Given the description of an element on the screen output the (x, y) to click on. 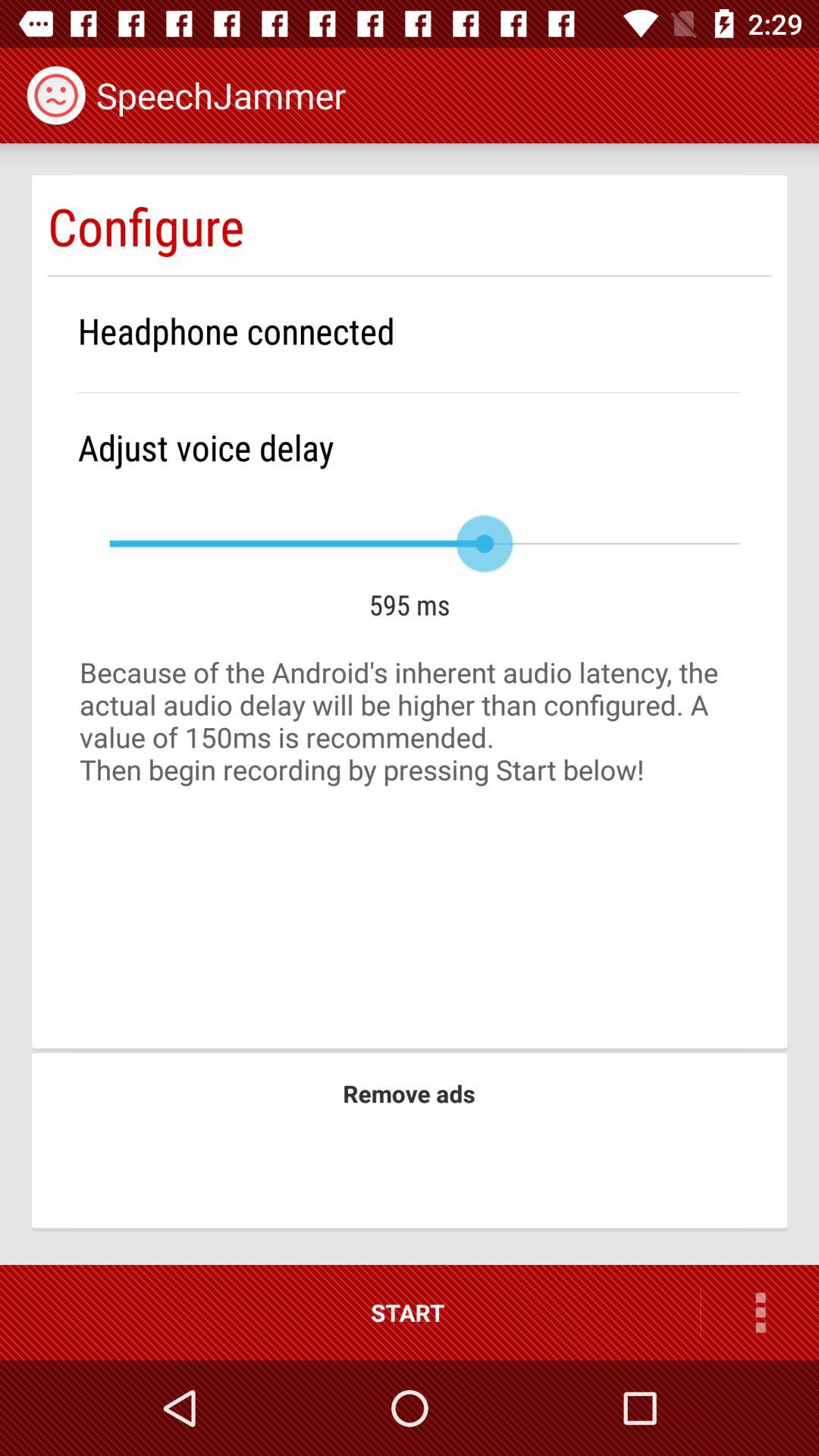
flip to remove ads icon (408, 1093)
